Given the description of an element on the screen output the (x, y) to click on. 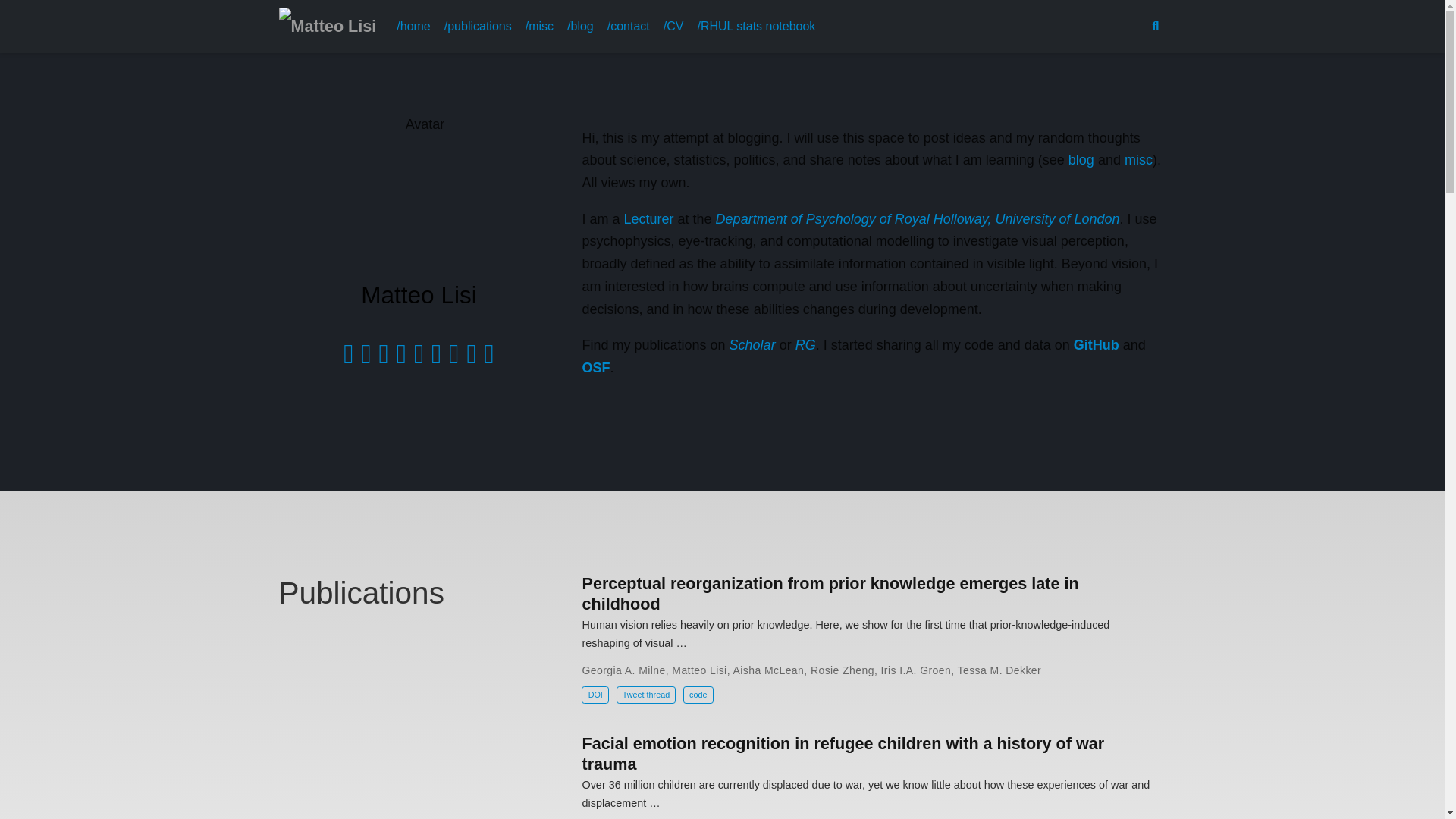
Matteo Lisi (698, 670)
OSF (595, 367)
RG (804, 344)
Tweet thread (646, 694)
code (697, 694)
Georgia A. Milne (622, 670)
Rosie Zheng (842, 670)
misc (1138, 159)
Scholar (752, 344)
blog (1081, 159)
DOI (594, 694)
Lecturer (649, 218)
